Given the description of an element on the screen output the (x, y) to click on. 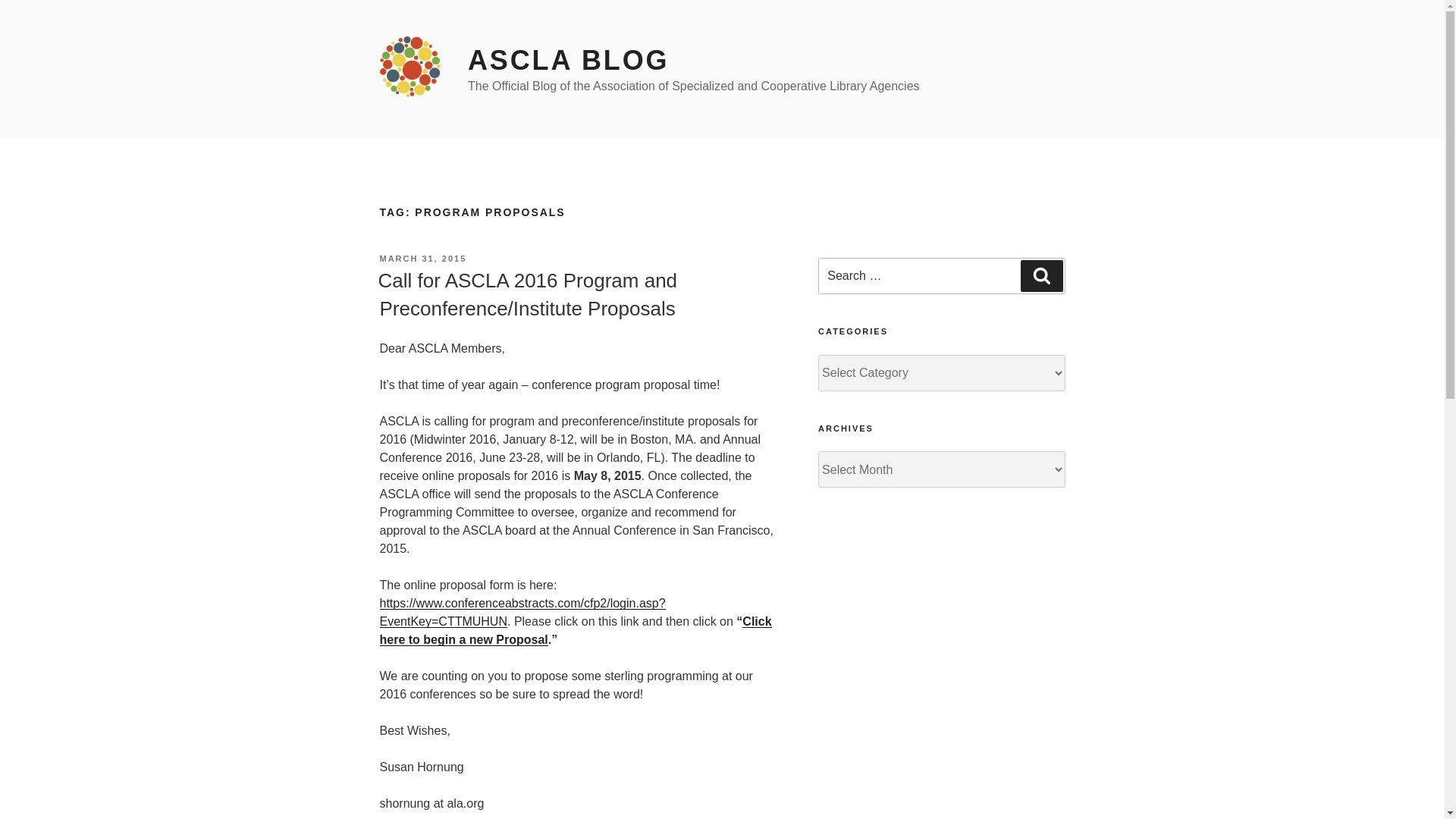
Click here to begin a new Proposal (574, 630)
Search (1041, 275)
MARCH 31, 2015 (421, 257)
ASCLA BLOG (567, 60)
